Given the description of an element on the screen output the (x, y) to click on. 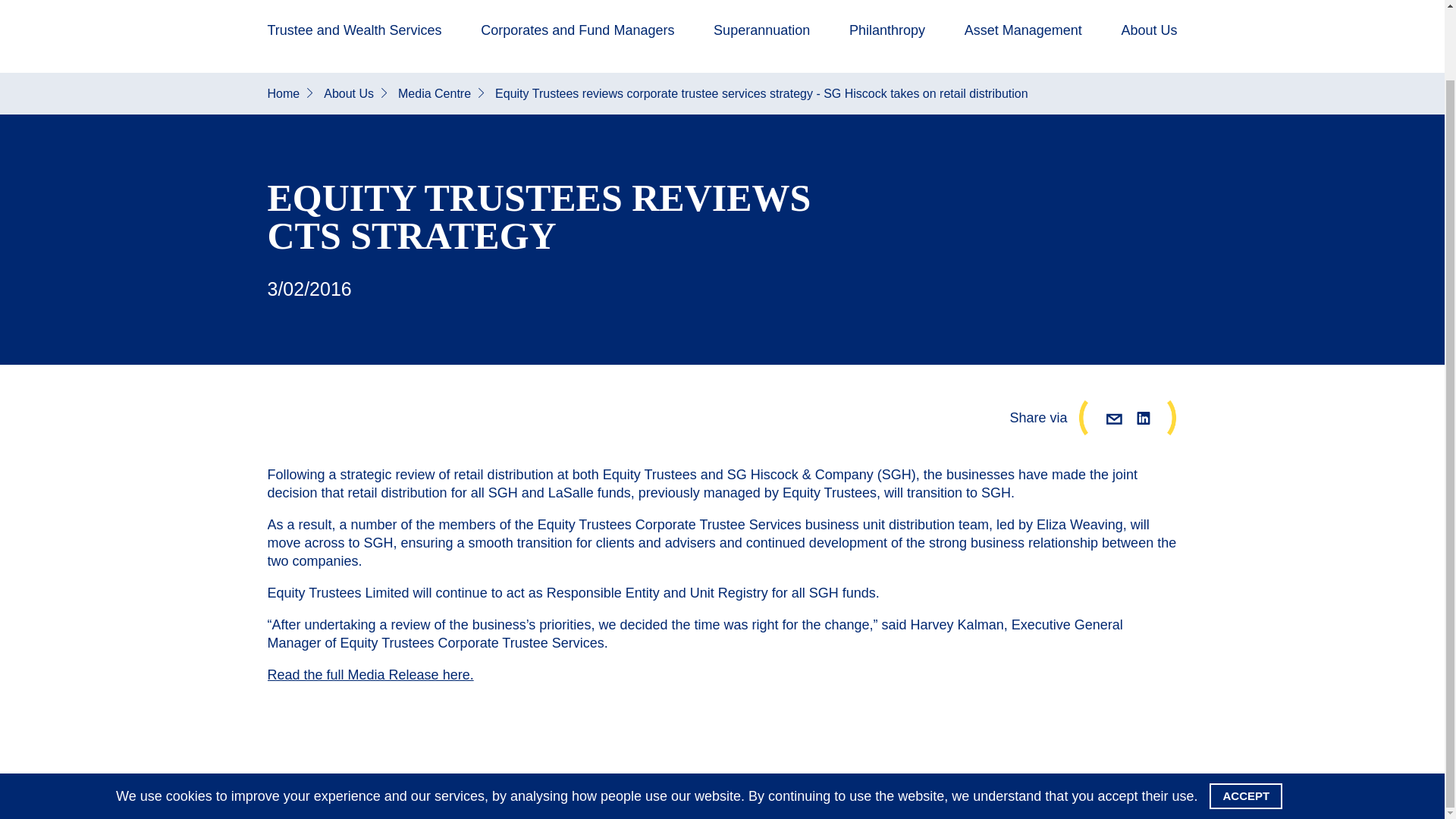
Corporates and Fund Managers (577, 39)
Trustee and Wealth Services (353, 39)
